Given the description of an element on the screen output the (x, y) to click on. 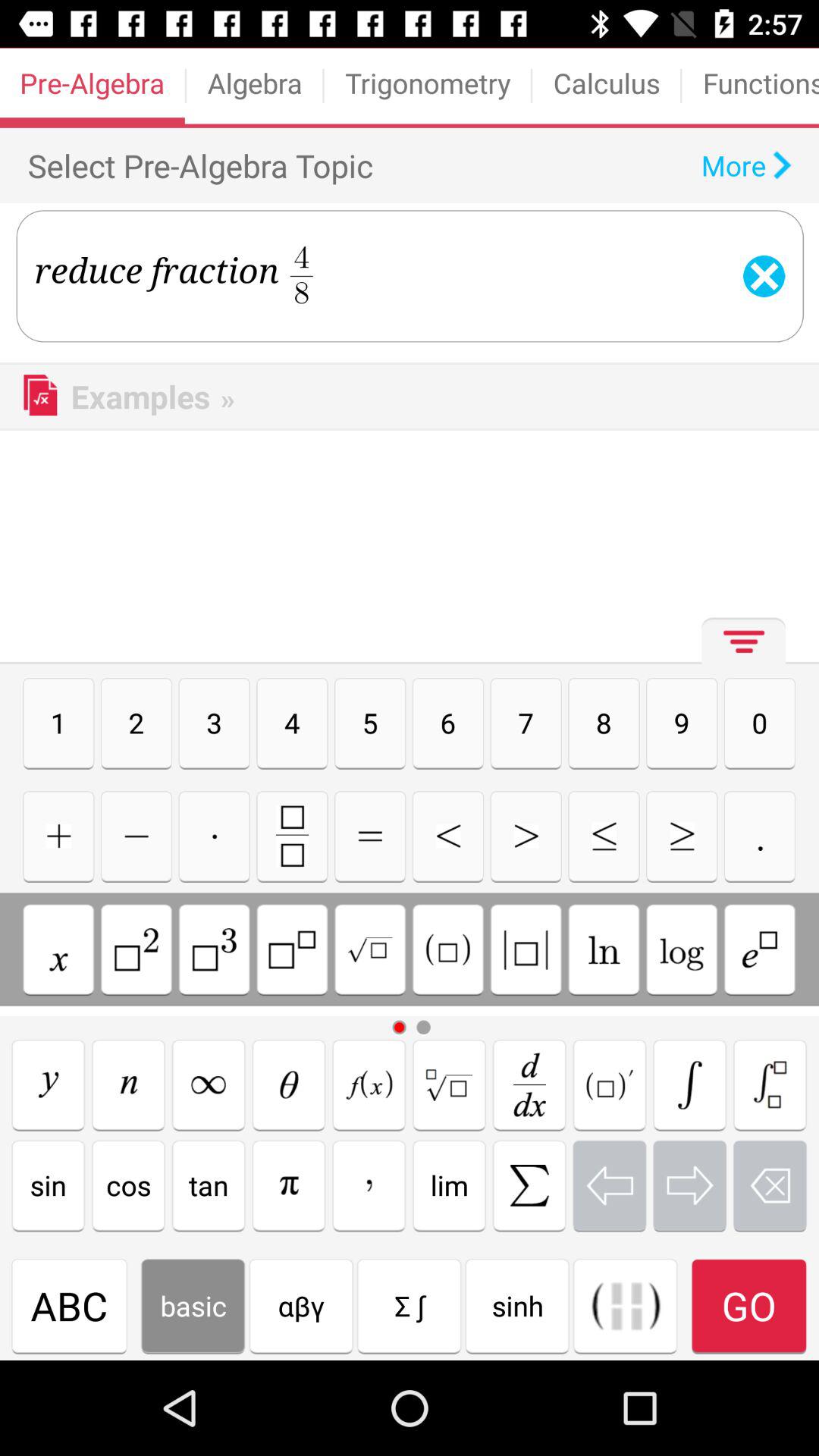
erase previous entry (769, 1185)
